Given the description of an element on the screen output the (x, y) to click on. 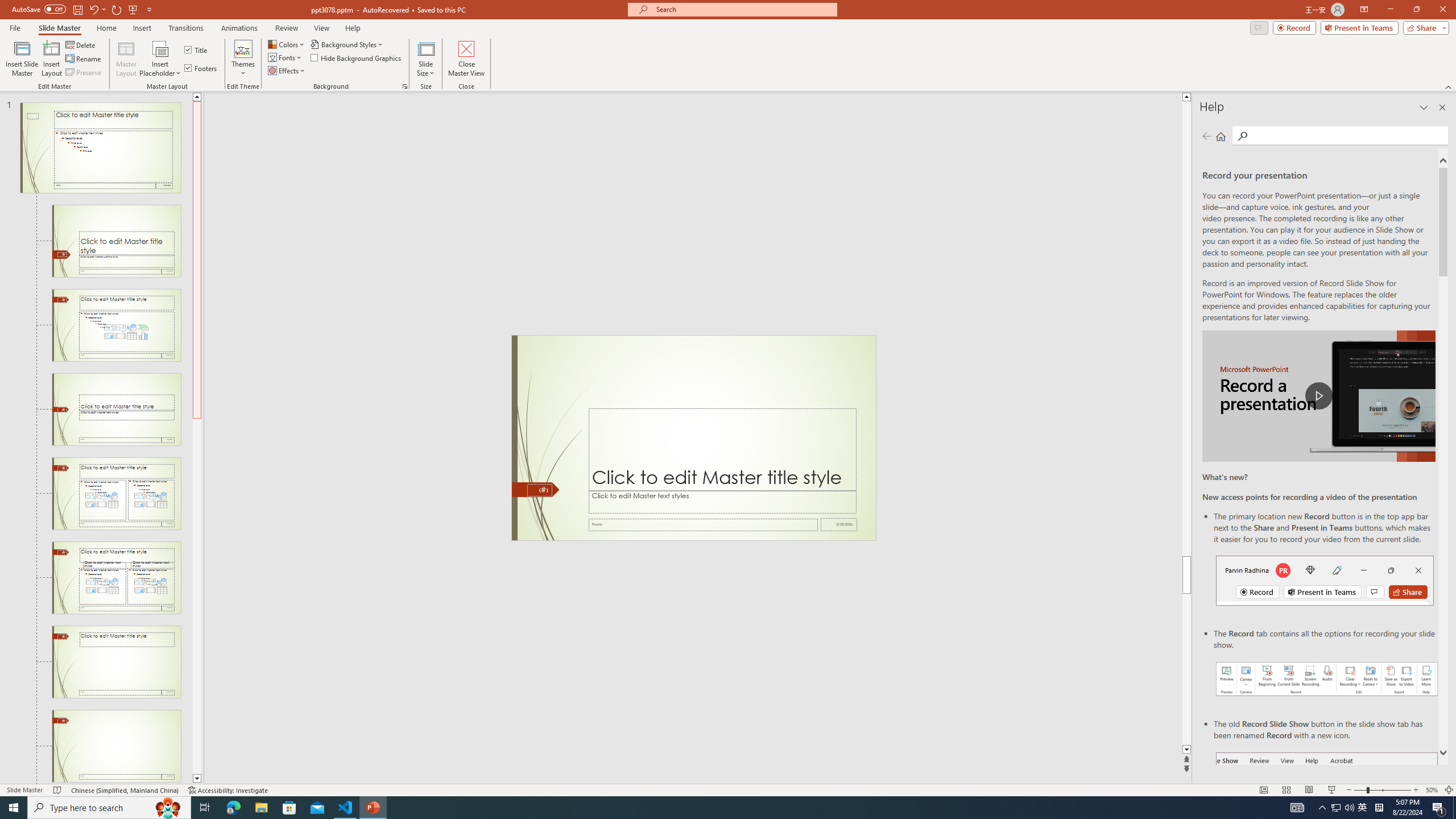
Insert Slide Master (21, 58)
Slide Section Header Layout: used by no slides (116, 409)
Class: MsoCommandBar (728, 789)
Rename (84, 58)
Spell Check No Errors (57, 790)
Title TextBox (722, 449)
